Given the description of an element on the screen output the (x, y) to click on. 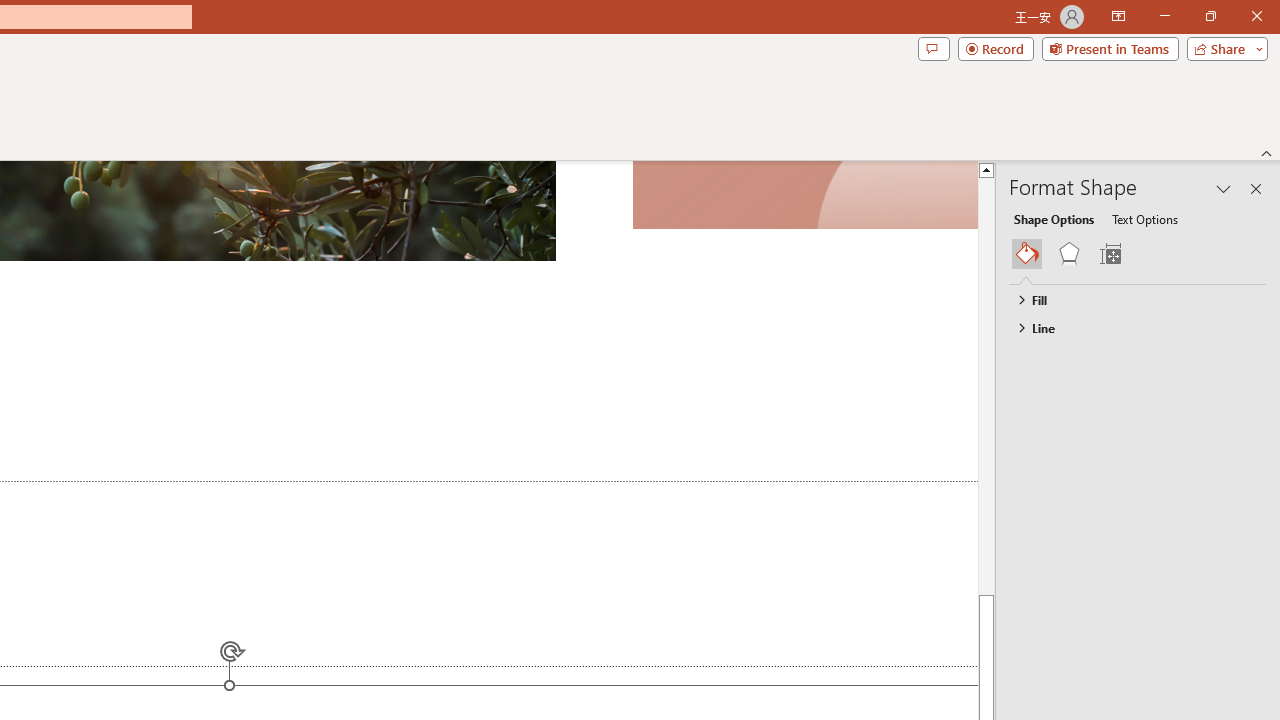
Fill (1128, 299)
Class: NetUIGalleryContainer (1138, 254)
Size & Properties (1110, 254)
